Given the description of an element on the screen output the (x, y) to click on. 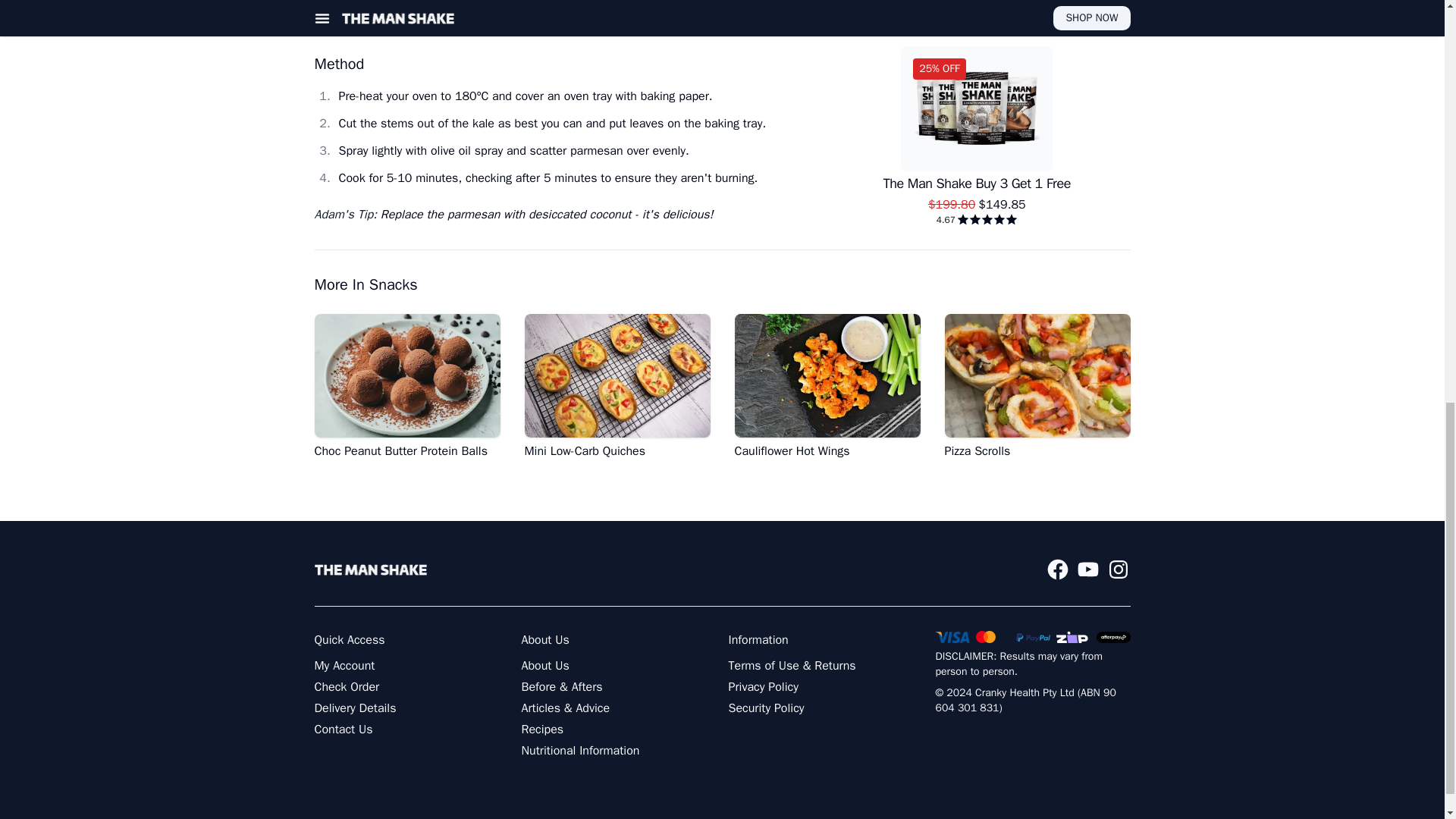
ZipPay (1071, 636)
Nutritional Information (580, 750)
Via (952, 636)
My Account (344, 665)
Recipes (542, 729)
Pizza Scrolls (1037, 386)
Choc Peanut Butter Protein Balls  (406, 386)
Cauliflower Hot Wings (826, 386)
Check Order (346, 686)
Afterpay (1113, 637)
